Given the description of an element on the screen output the (x, y) to click on. 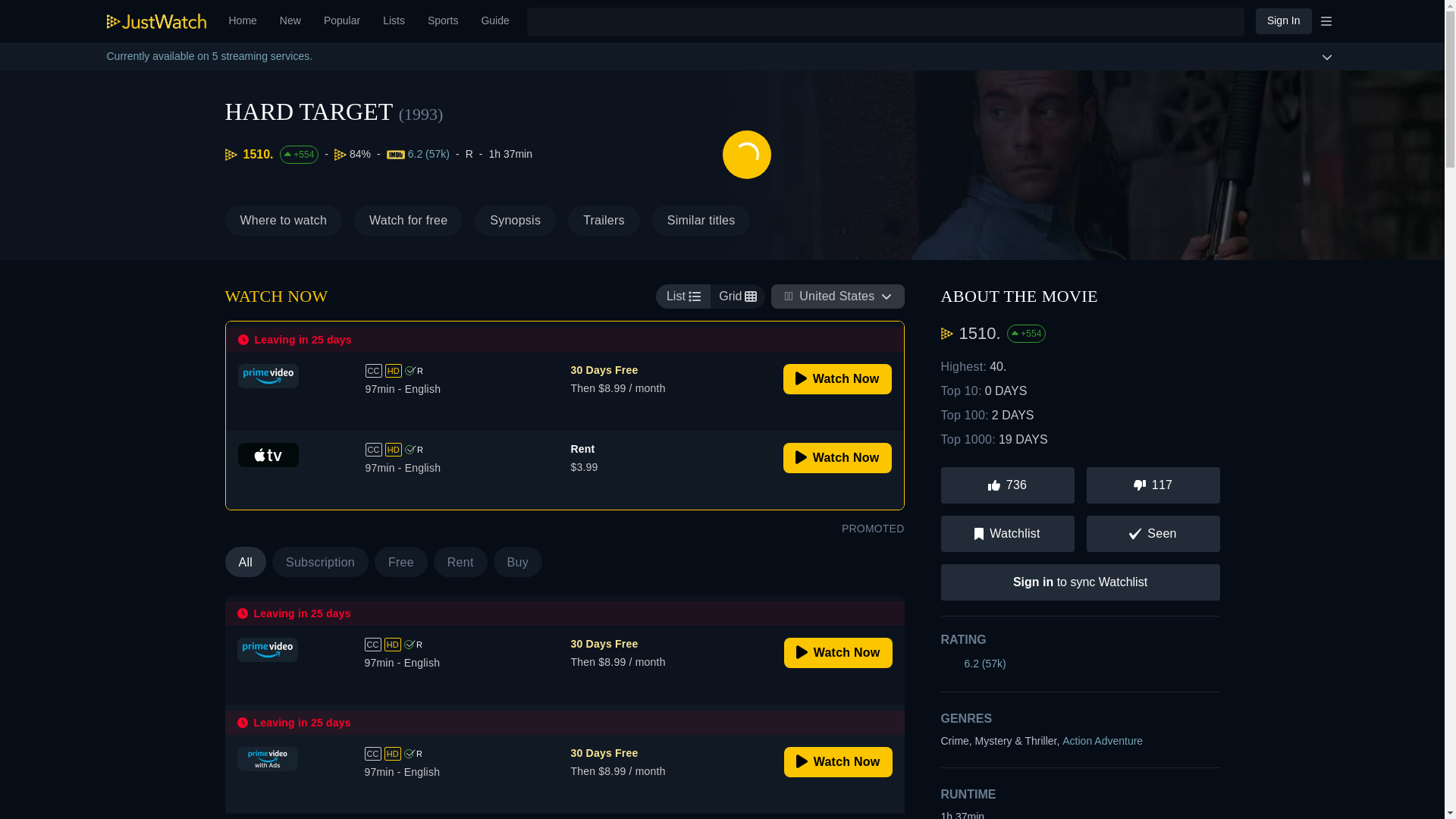
Watch Now (837, 378)
Subscription (320, 562)
Home (241, 21)
Guide (493, 21)
Watch Now (838, 653)
Trailers (385, 562)
Popular (603, 220)
Similar titles (342, 21)
Sports (701, 220)
